Given the description of an element on the screen output the (x, y) to click on. 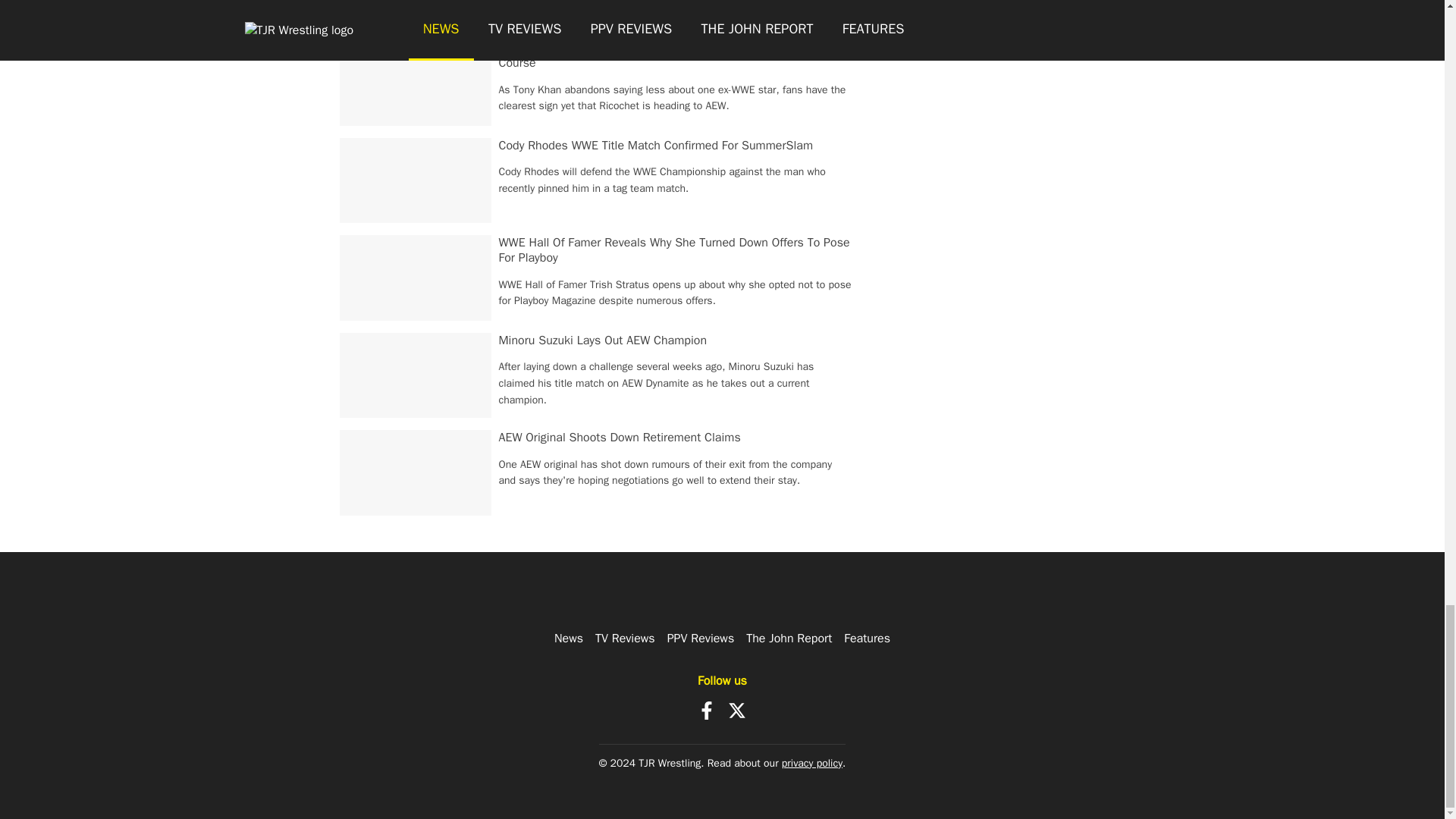
X (736, 710)
Cody Rhodes WWE Title Match Confirmed For SummerSlam (655, 145)
Facebook (706, 710)
Minoru Suzuki Lays Out AEW Champion (603, 340)
